Given the description of an element on the screen output the (x, y) to click on. 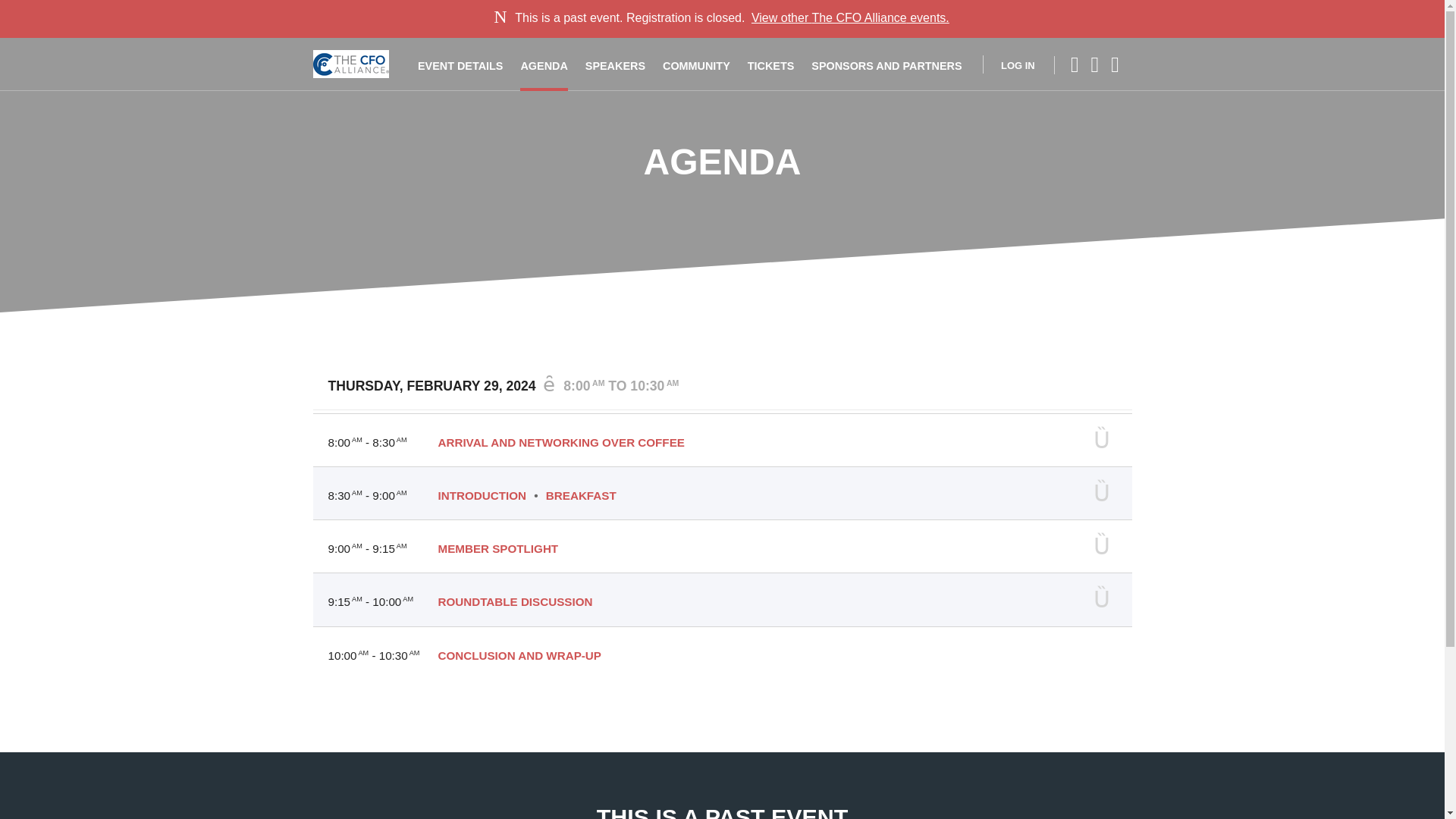
SPONSORS AND PARTNERS (885, 63)
Sign in (1008, 63)
COMMUNITY (696, 63)
View other The CFO Alliance events. (850, 17)
SPEAKERS (615, 63)
LOG IN (1008, 63)
EVENT DETAILS (459, 63)
